Given the description of an element on the screen output the (x, y) to click on. 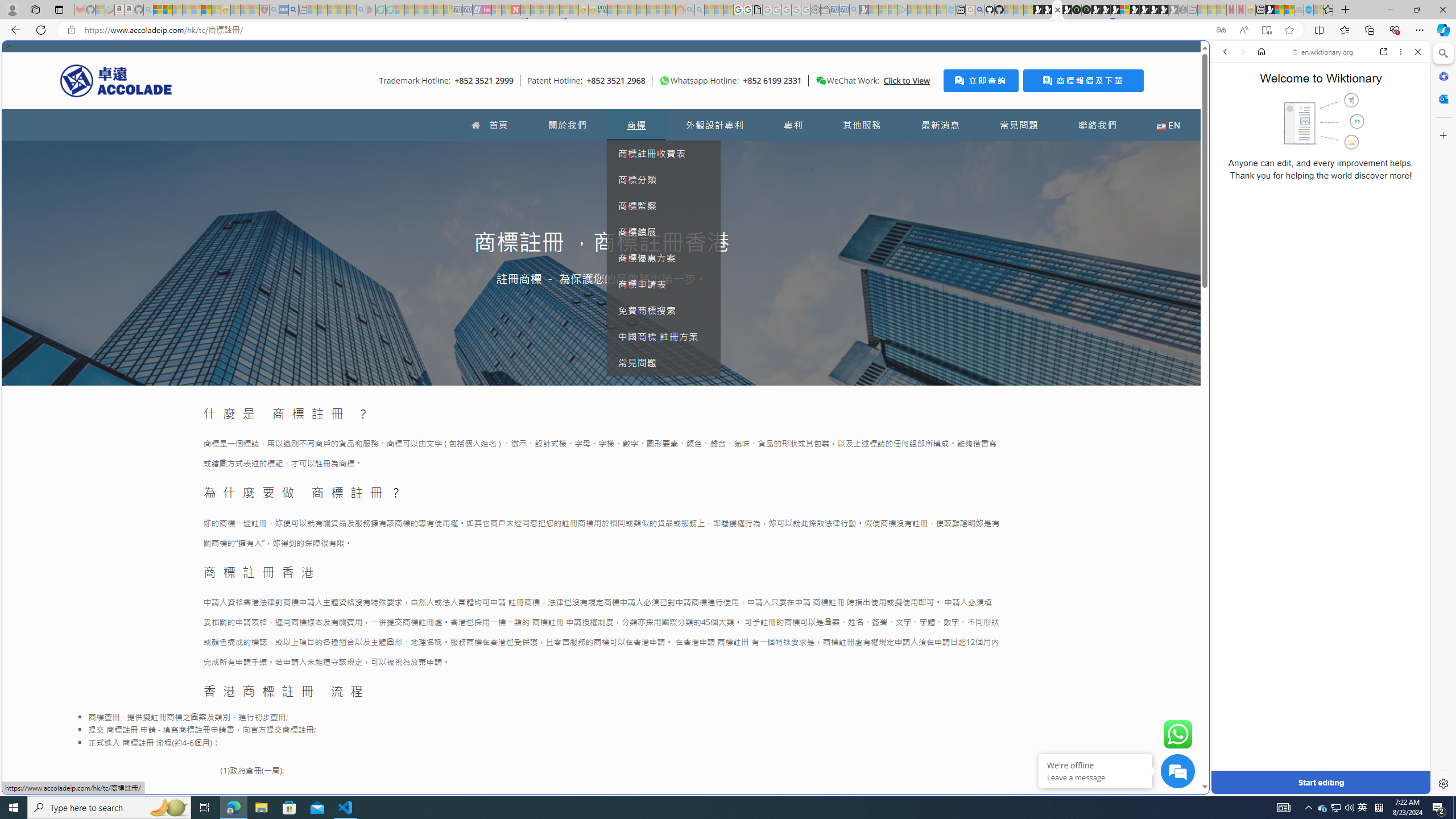
14 Common Myths Debunked By Scientific Facts - Sleeping (534, 9)
EN (1168, 124)
Close Customize pane (1442, 135)
Jobs - lastminute.com Investor Portal - Sleeping (486, 9)
MSN (1269, 9)
